Given the description of an element on the screen output the (x, y) to click on. 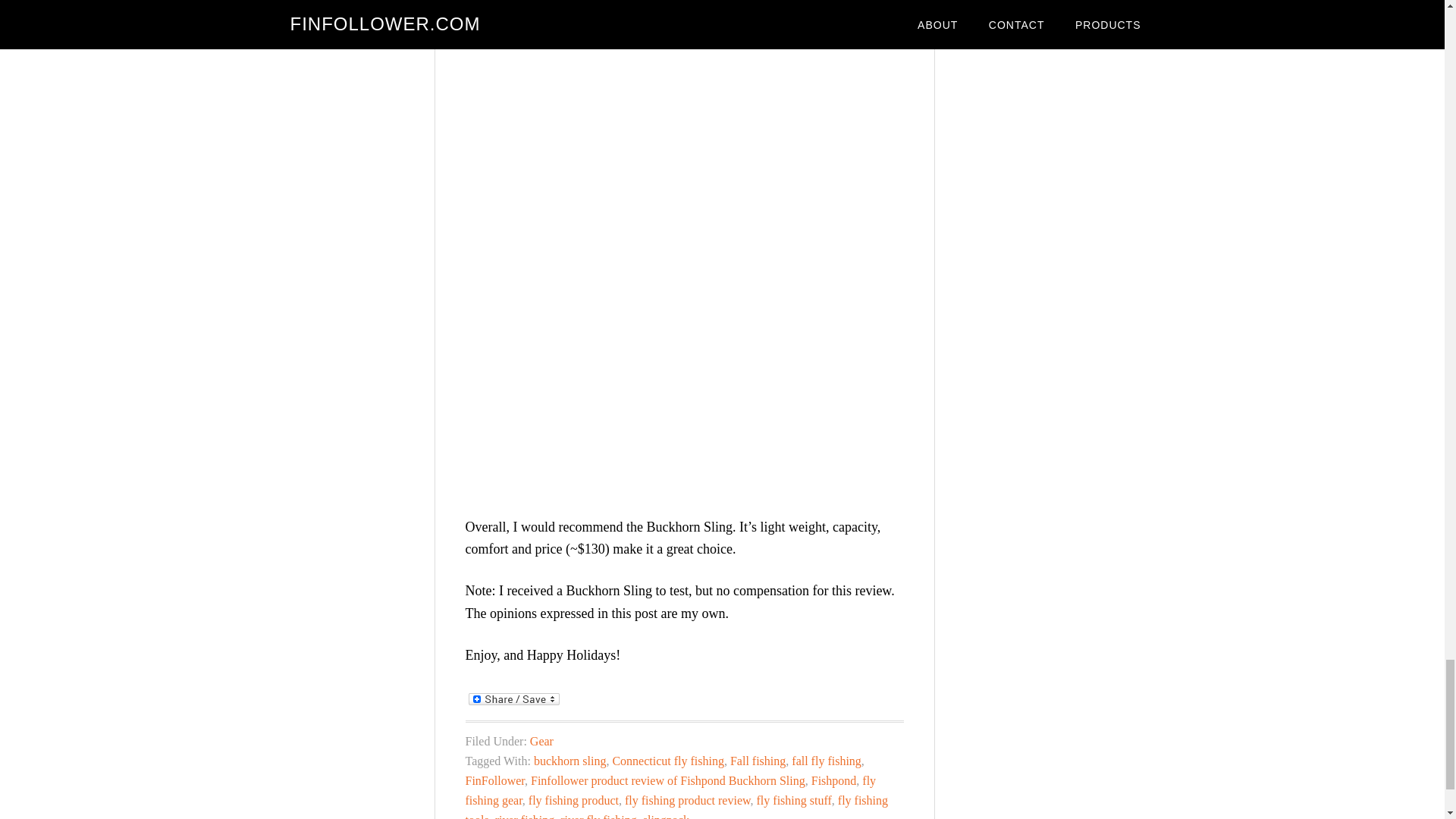
fly fishing stuff (794, 799)
fly fishing gear (670, 789)
FinFollower (494, 780)
river fishing (524, 816)
fly fishing product (573, 799)
Fishpond (833, 780)
fly fishing tools (676, 806)
buckhorn sling (570, 760)
river fly fishing (598, 816)
Connecticut fly fishing (667, 760)
